Given the description of an element on the screen output the (x, y) to click on. 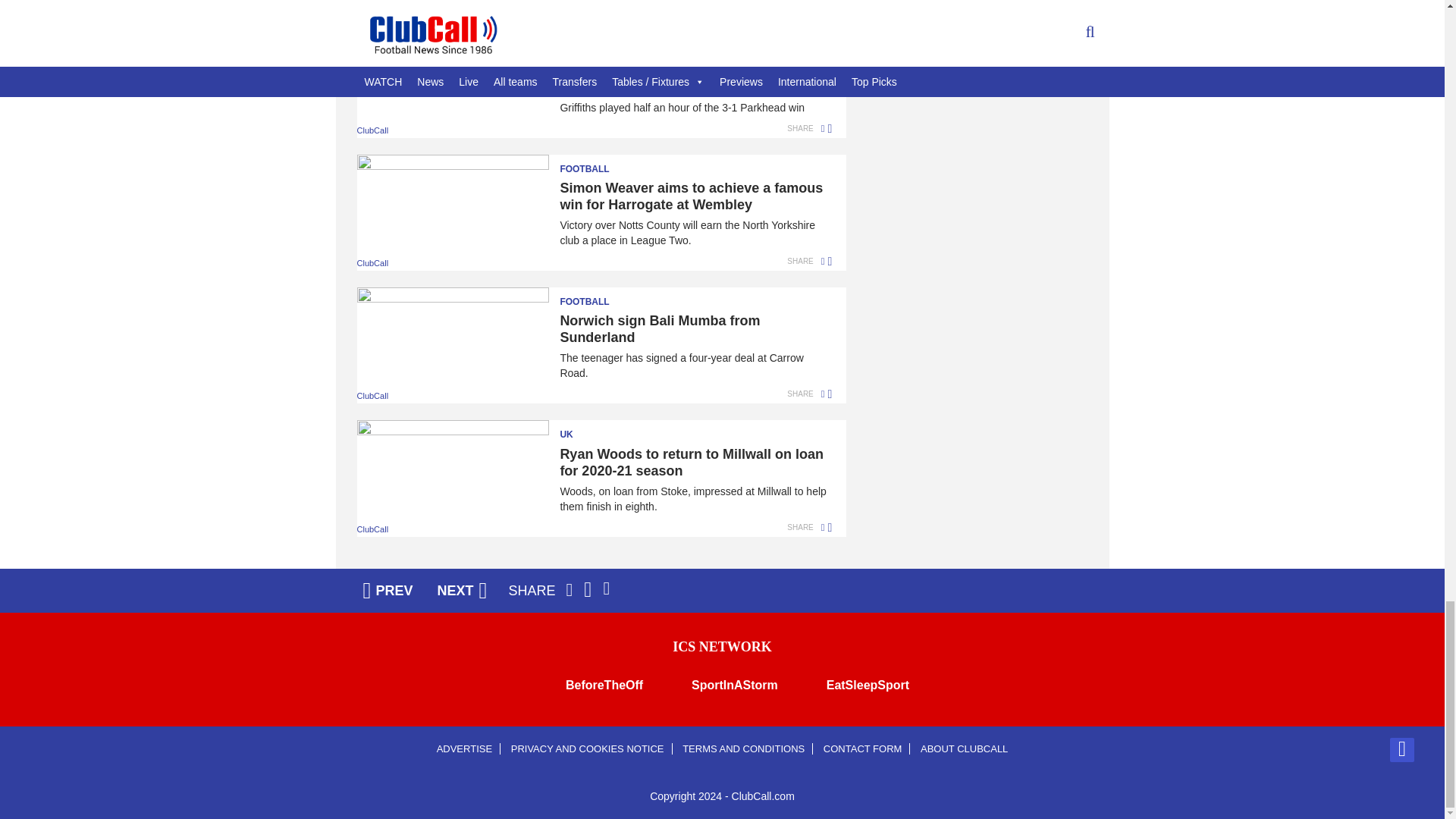
Football (593, 297)
Football (593, 163)
Football (593, 29)
UK (593, 429)
